Given the description of an element on the screen output the (x, y) to click on. 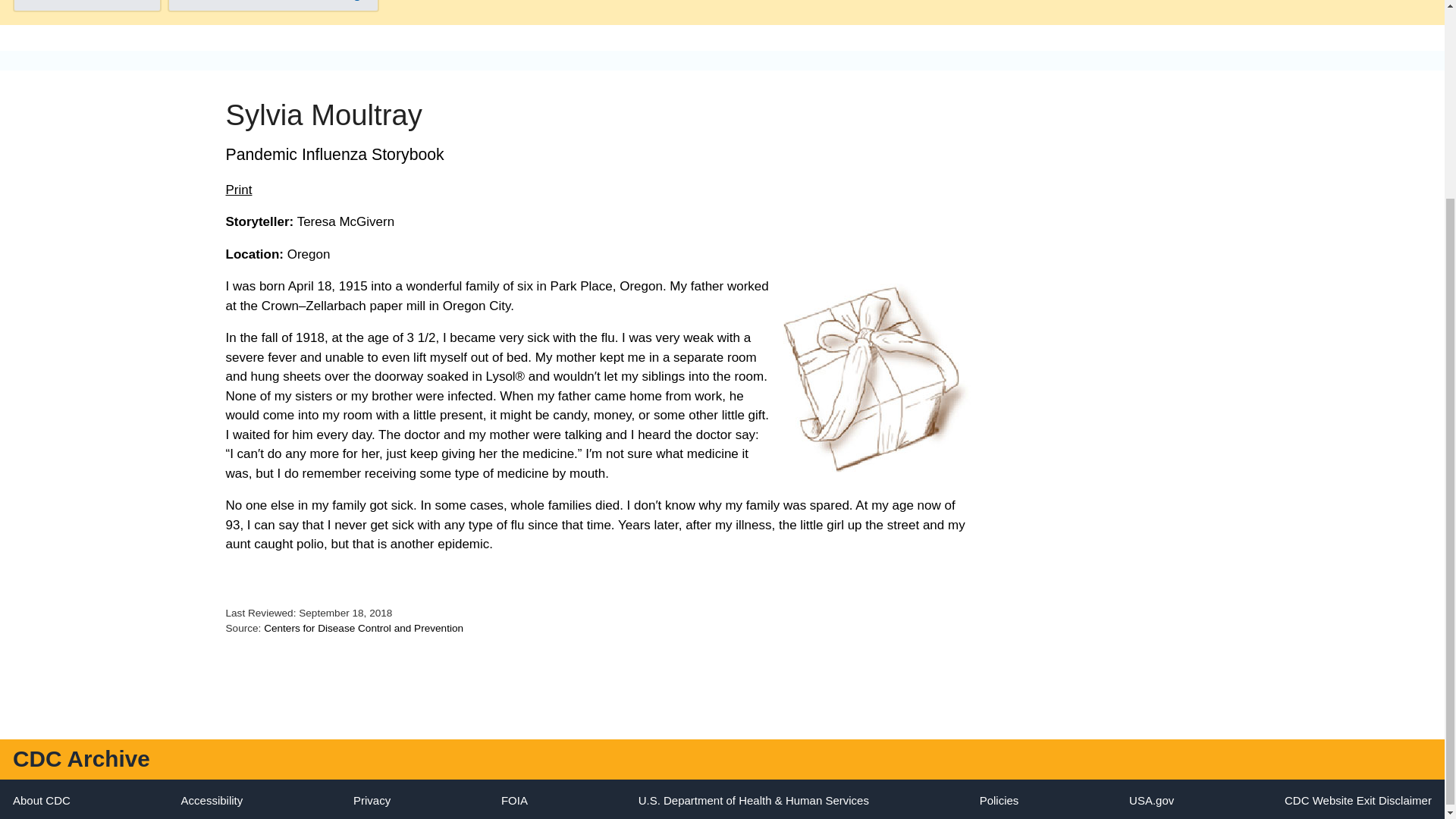
Centers for Disease Control and Prevention (363, 627)
USA.gov (1151, 799)
CDC Policies and Regulations (999, 799)
CDC Archive Home (81, 758)
Go to CDC Archive Home Page (272, 6)
View in CDC Archive (87, 6)
CDC Digital Media Channel Privacy Policy Notice (371, 799)
Print (238, 189)
CDC Twenty Four Seven (41, 799)
moultray-present-box.jpg (877, 377)
